Given the description of an element on the screen output the (x, y) to click on. 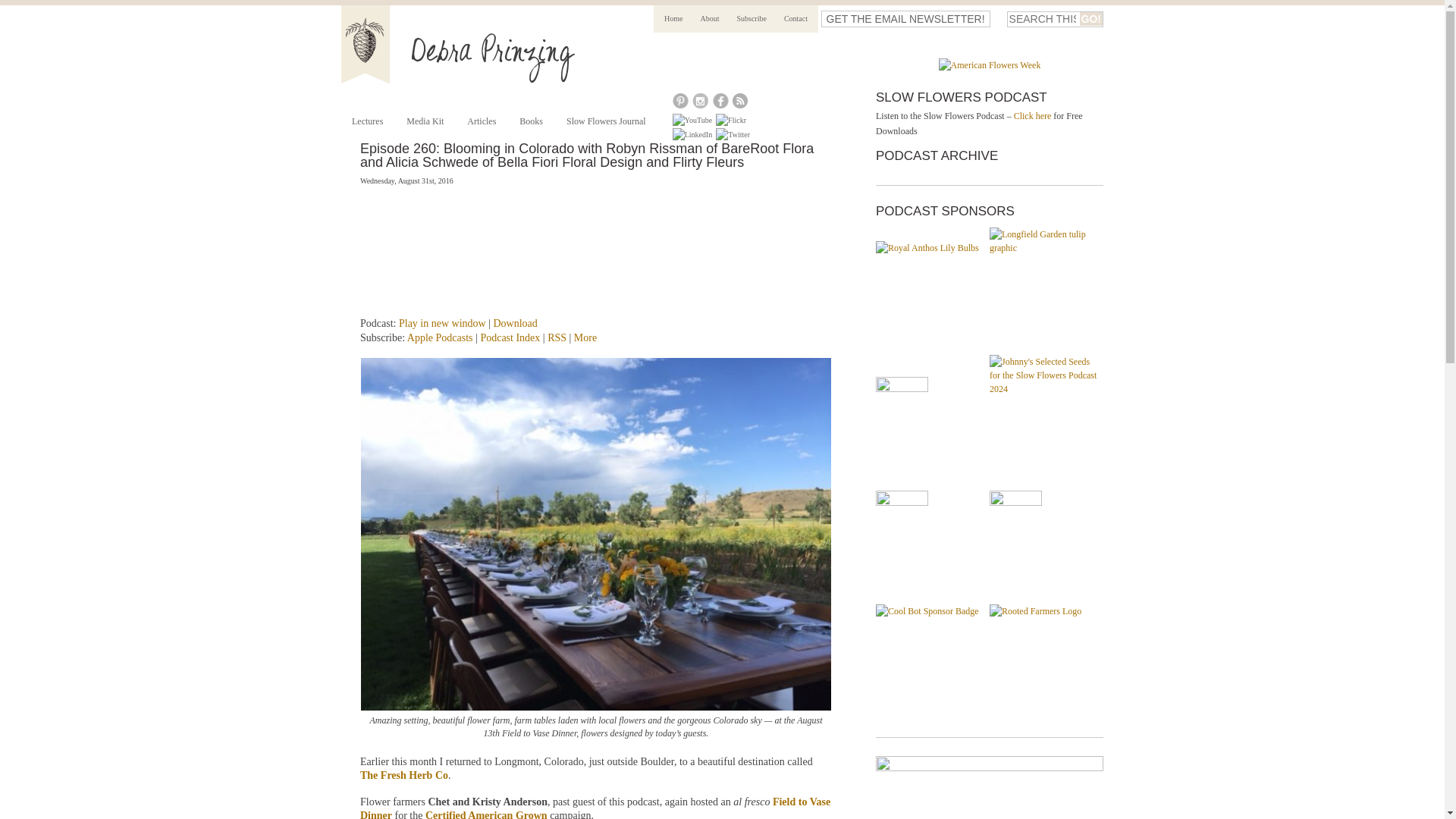
Books (531, 120)
Lectures (367, 120)
Apple Podcasts (440, 337)
Home (673, 18)
More (584, 337)
RSS (556, 337)
The Fresh Herb Co (403, 775)
About (709, 18)
Subscribe via RSS (556, 337)
Articles (481, 120)
